Given the description of an element on the screen output the (x, y) to click on. 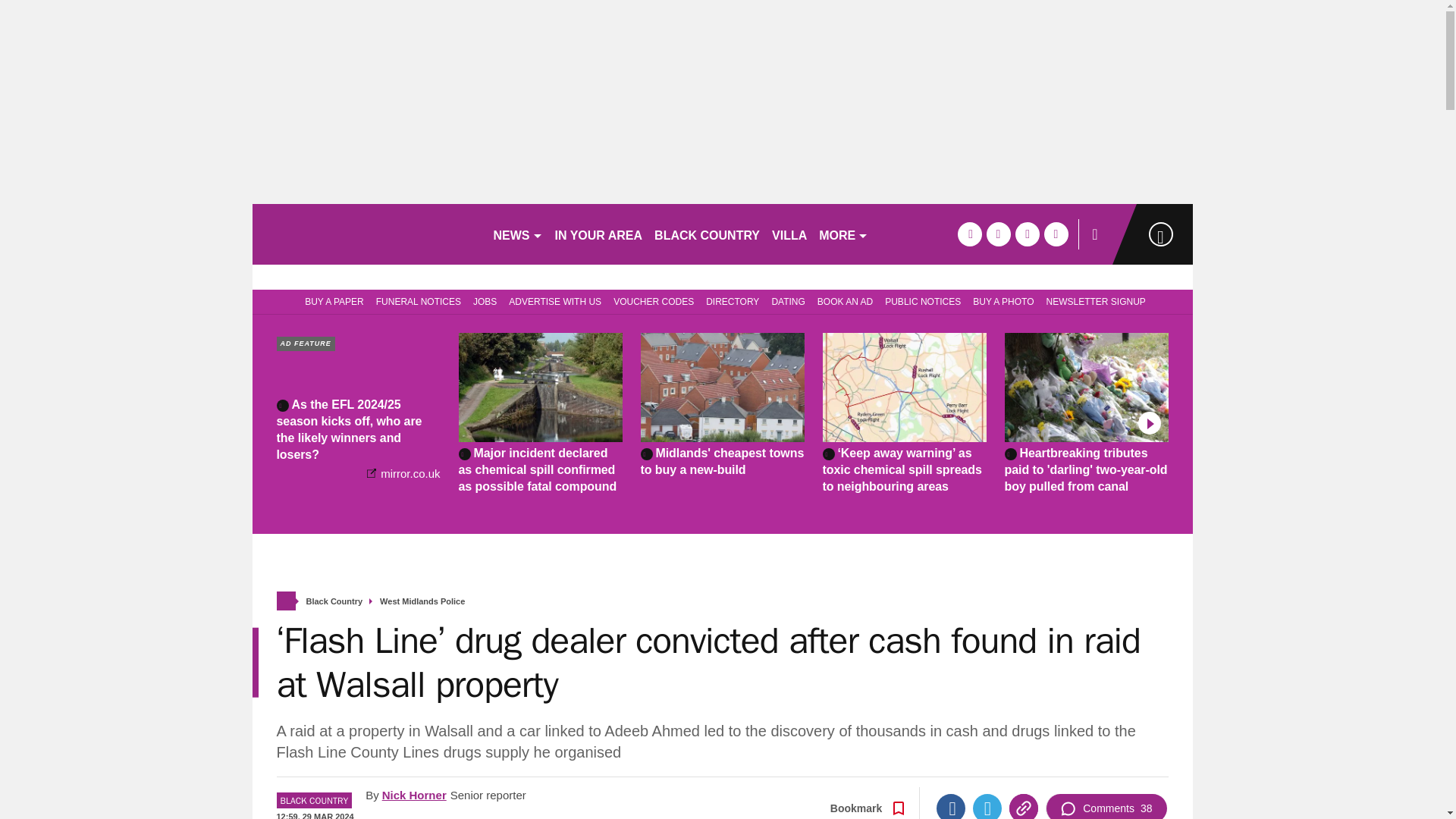
NEWS (517, 233)
instagram (1055, 233)
IN YOUR AREA (598, 233)
MORE (843, 233)
BLACK COUNTRY (706, 233)
Comments (1105, 806)
tiktok (1026, 233)
Facebook (950, 806)
twitter (997, 233)
facebook (968, 233)
